Given the description of an element on the screen output the (x, y) to click on. 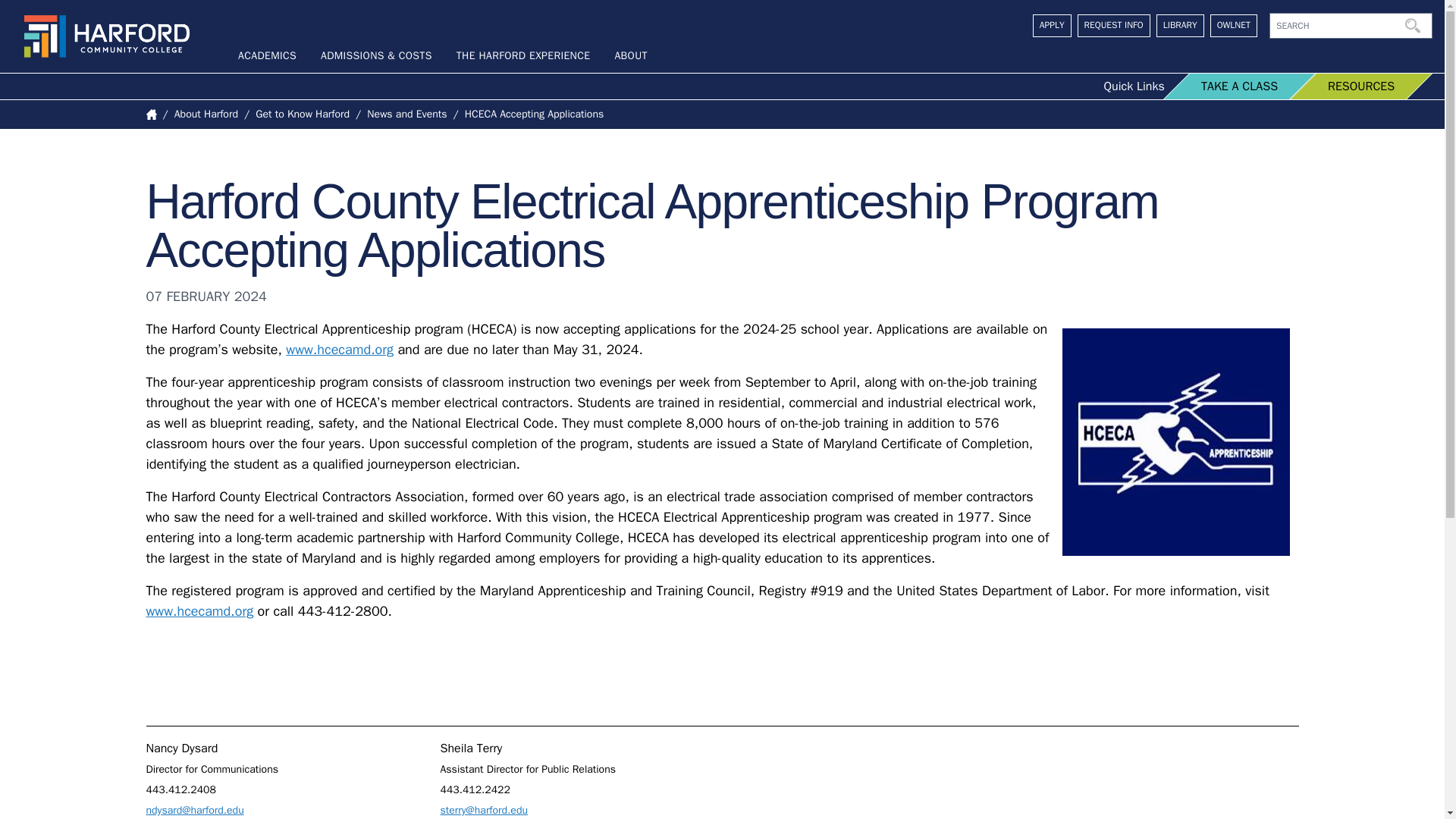
RESOURCES (1348, 86)
ABOUT (630, 55)
The Harford Experience (524, 55)
Academics (267, 55)
About Harford Community College (630, 55)
TAKE A CLASS (1226, 86)
ACADEMICS (267, 55)
THE HARFORD EXPERIENCE (524, 55)
